Given the description of an element on the screen output the (x, y) to click on. 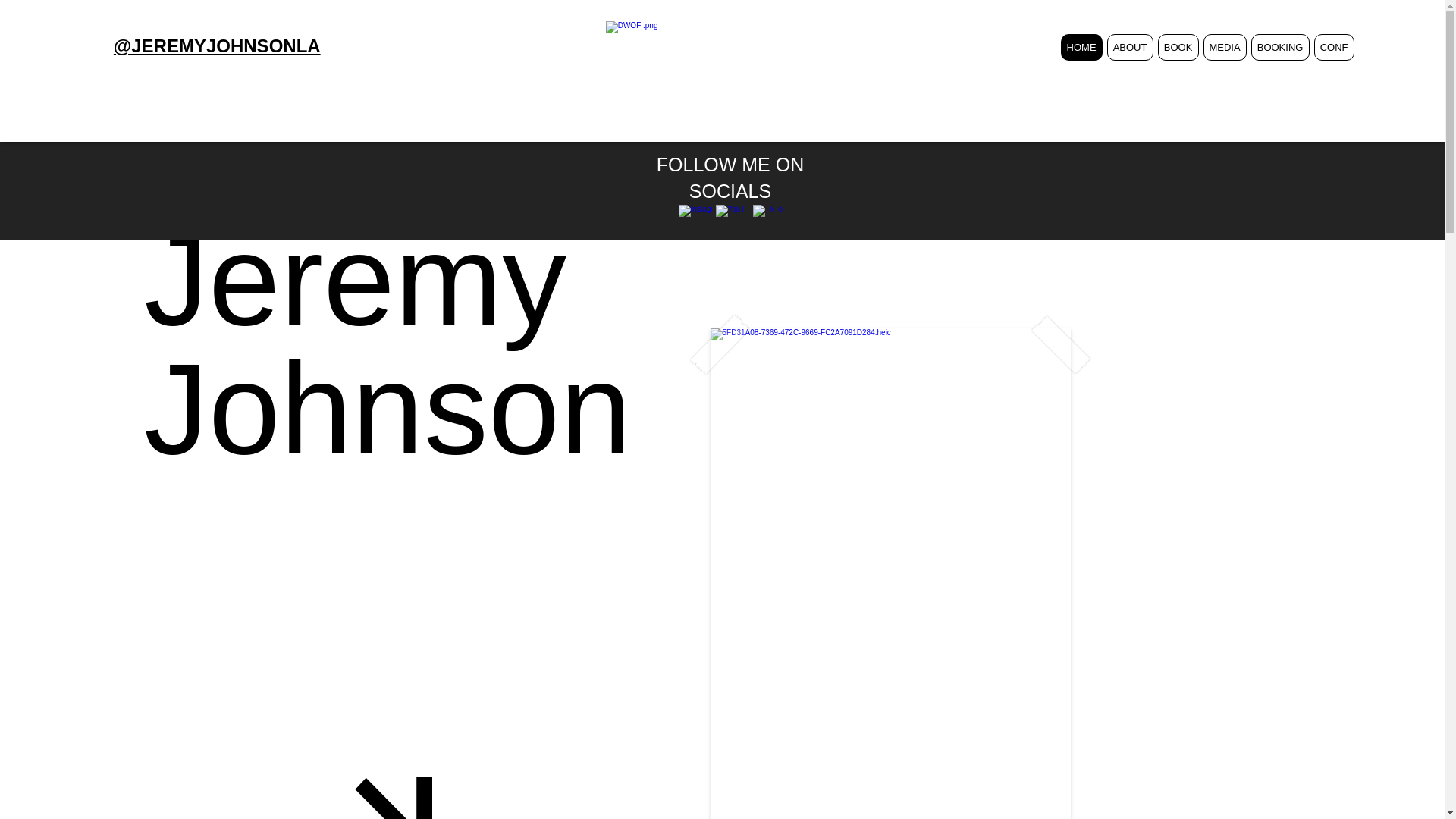
CONF (1334, 47)
ABOUT (1129, 47)
BOOK (1177, 47)
HOME (1081, 47)
JJ.png (730, 76)
BOOKING (1279, 47)
